Given the description of an element on the screen output the (x, y) to click on. 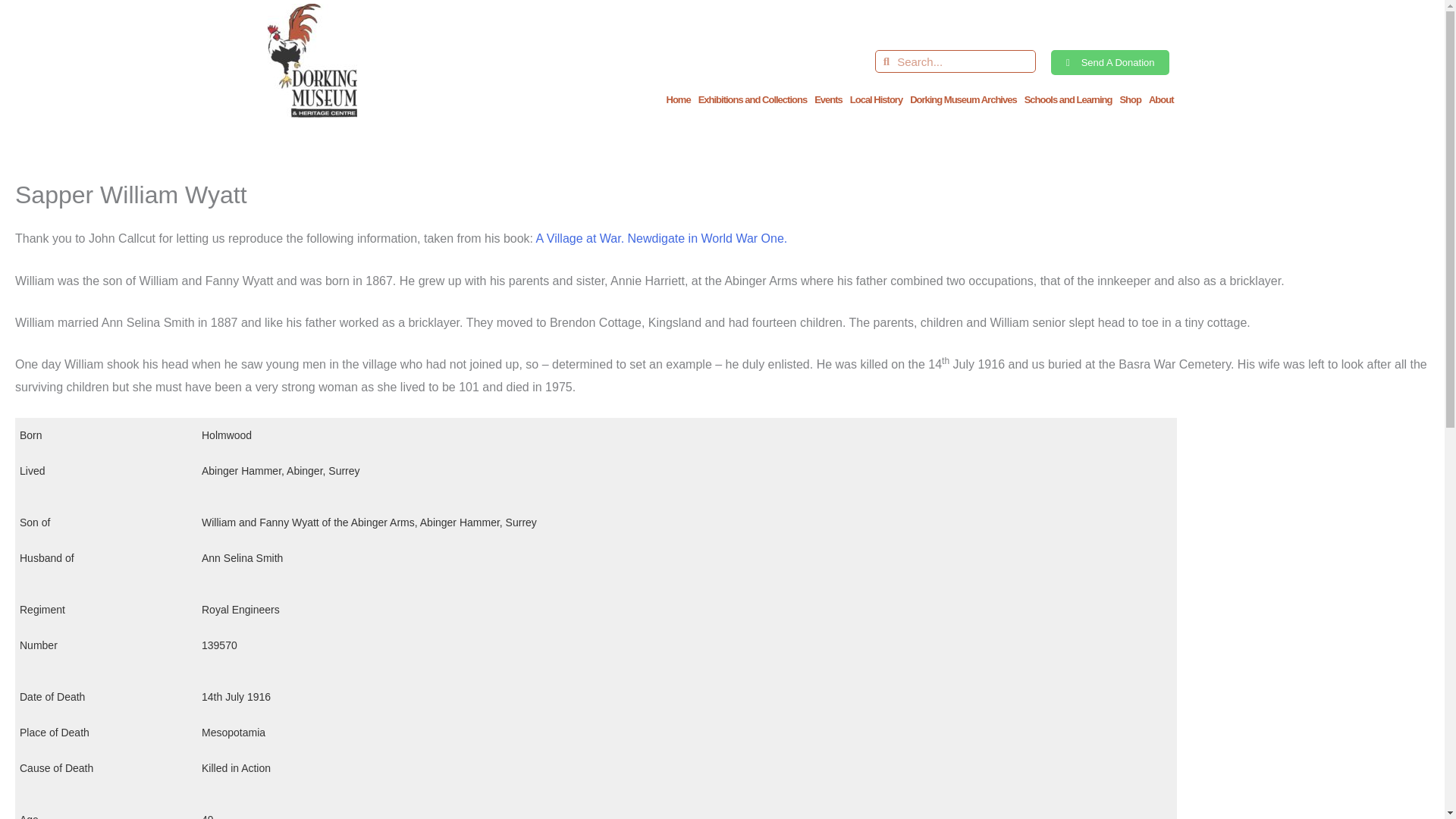
Send A Donation (1110, 62)
Home (678, 99)
Exhibitions and Collections (752, 99)
